Given the description of an element on the screen output the (x, y) to click on. 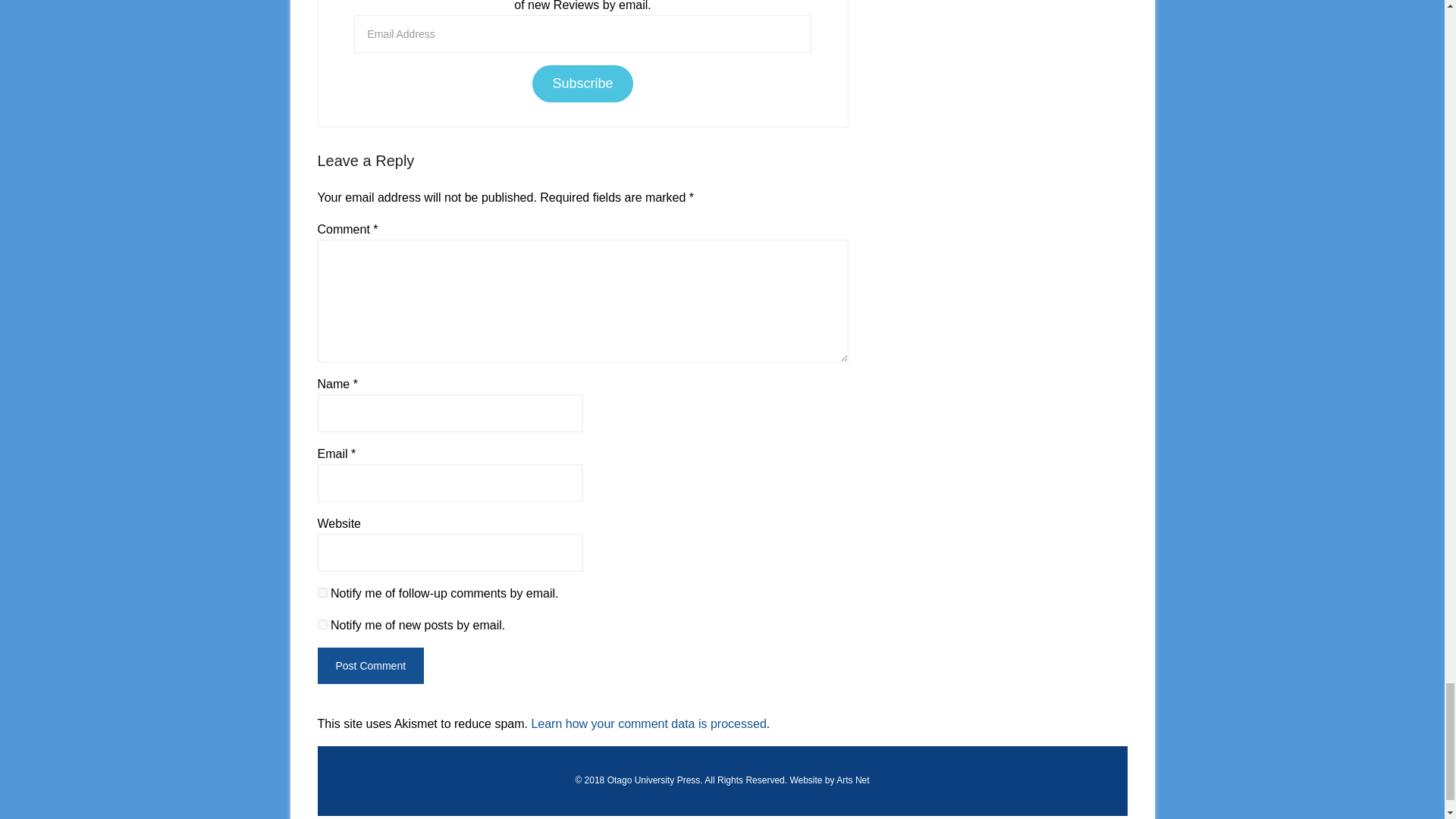
subscribe (321, 624)
Post Comment (370, 665)
Post Comment (370, 665)
Arts Net (852, 779)
Subscribe (581, 83)
Opens new window (653, 779)
Opens new window (852, 779)
Otago University Press (653, 779)
Learn how your comment data is processed (648, 723)
subscribe (321, 592)
